Given the description of an element on the screen output the (x, y) to click on. 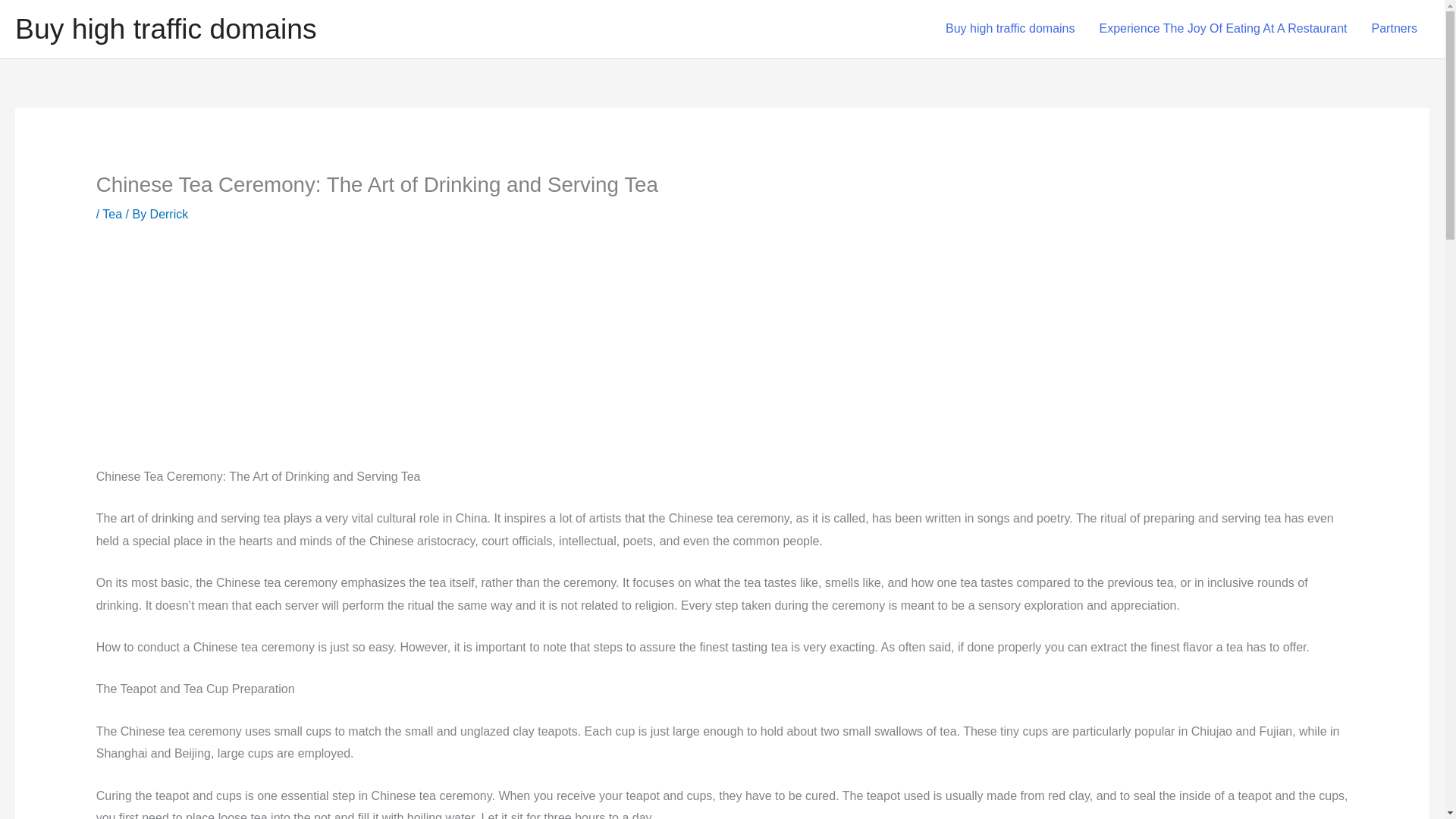
Advertisement (338, 356)
Buy high traffic domains (165, 29)
View all posts by Derrick (169, 214)
Tea (111, 214)
Buy high traffic domains (1009, 28)
Partners (1394, 28)
Derrick (169, 214)
Experience The Joy Of Eating At A Restaurant (1223, 28)
